Given the description of an element on the screen output the (x, y) to click on. 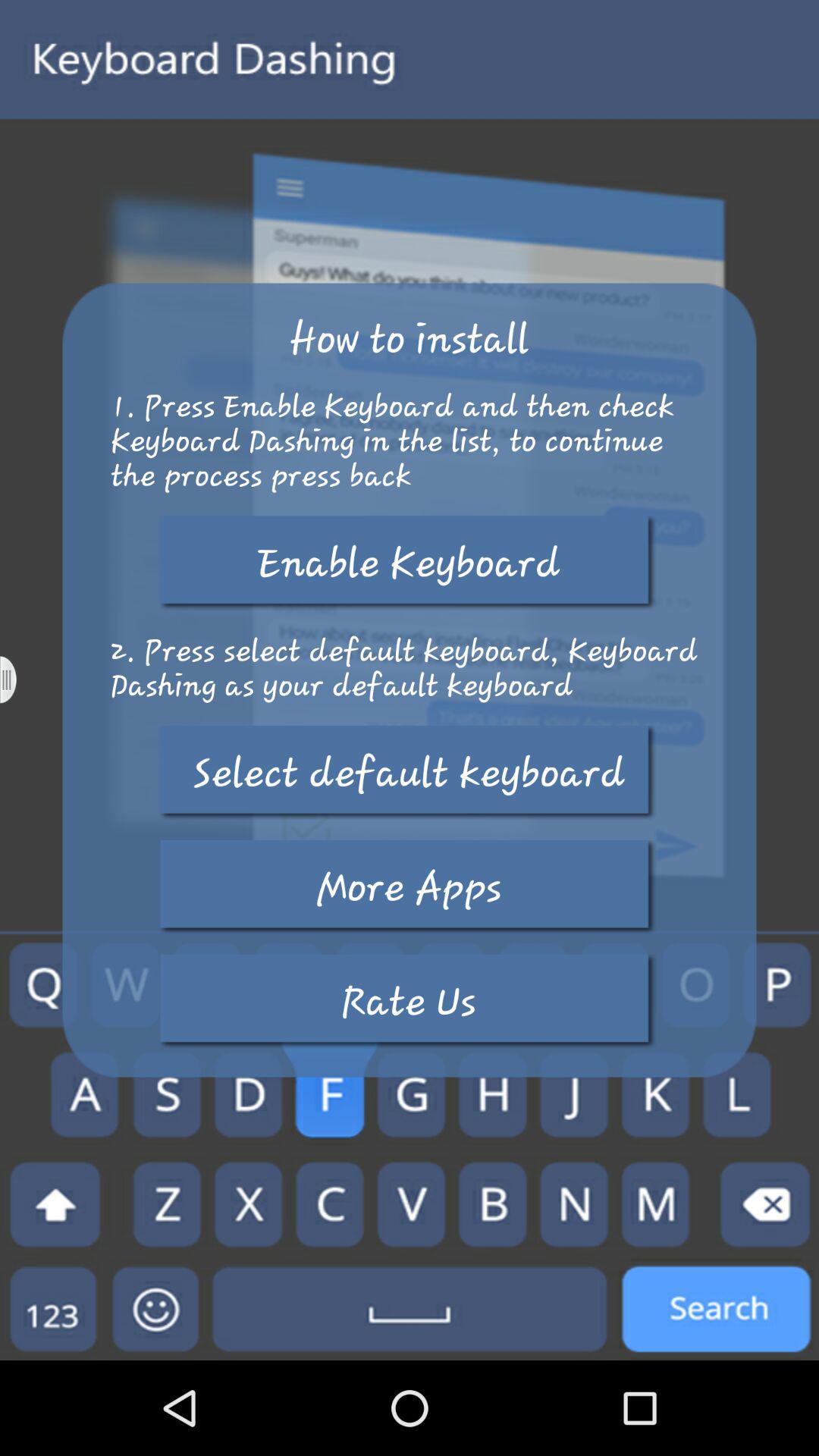
turn on more apps button (409, 887)
